Given the description of an element on the screen output the (x, y) to click on. 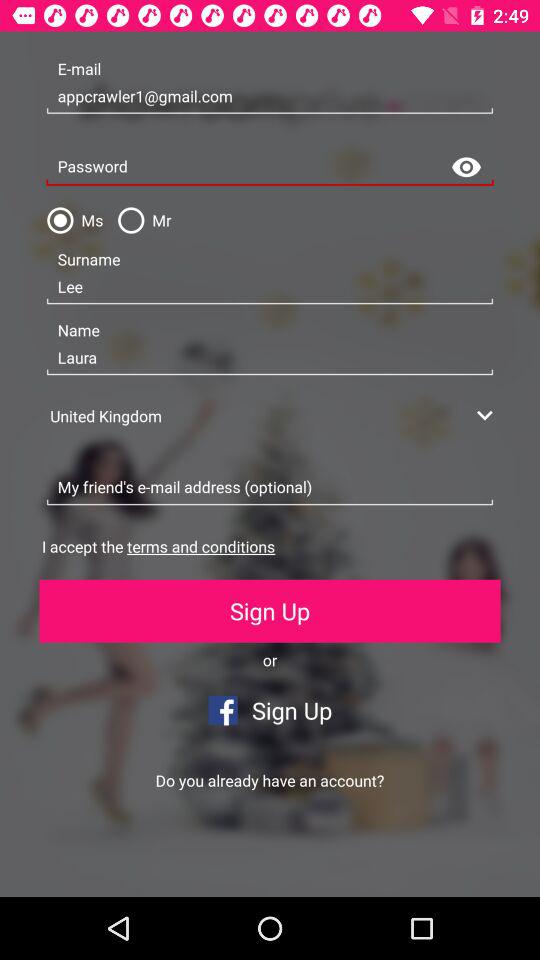
click the do you already icon (269, 780)
